Given the description of an element on the screen output the (x, y) to click on. 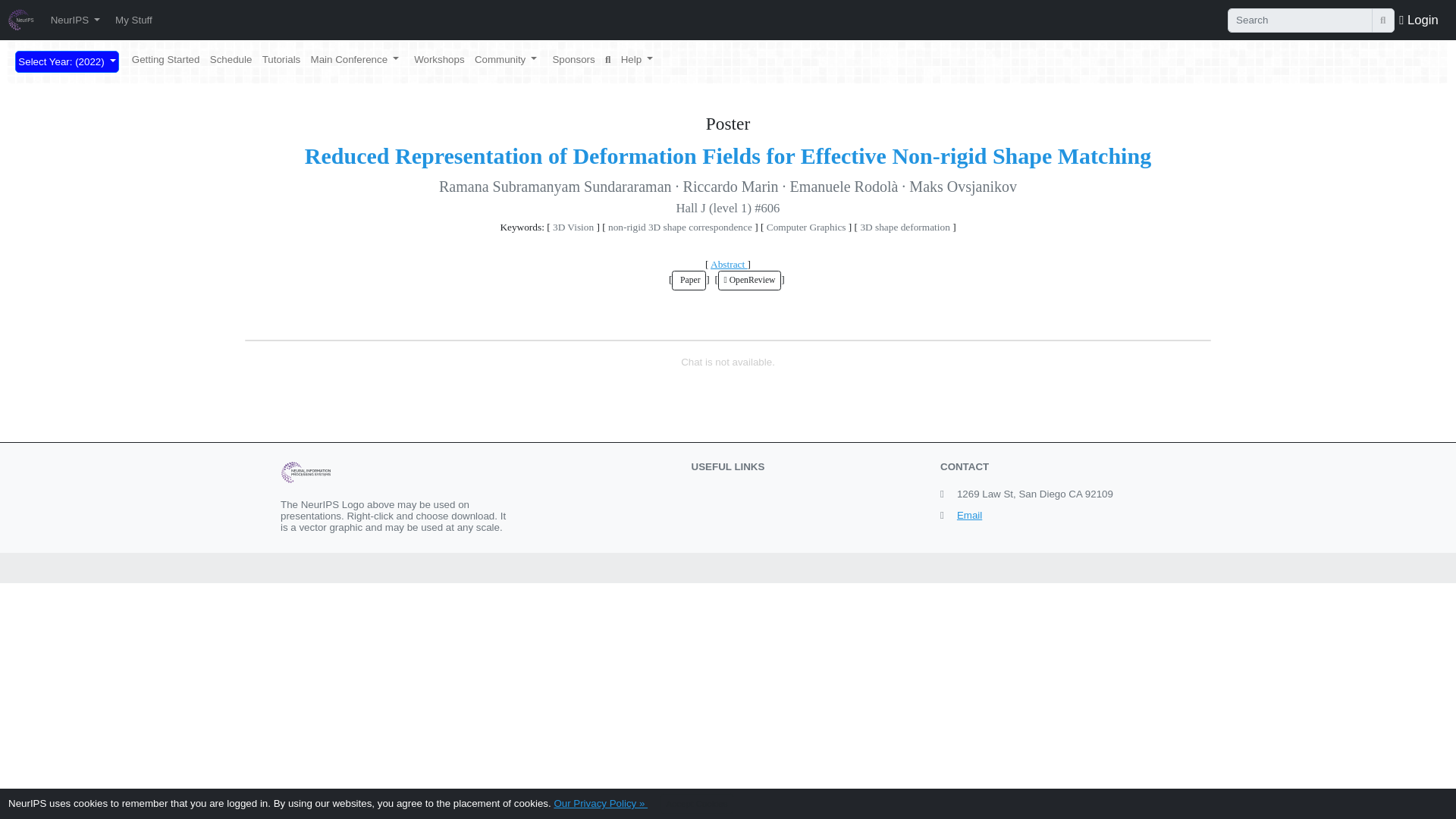
Login (1418, 19)
NeurIPS (74, 20)
My Stuff (133, 20)
OpenReview (748, 280)
Paper (688, 280)
